Given the description of an element on the screen output the (x, y) to click on. 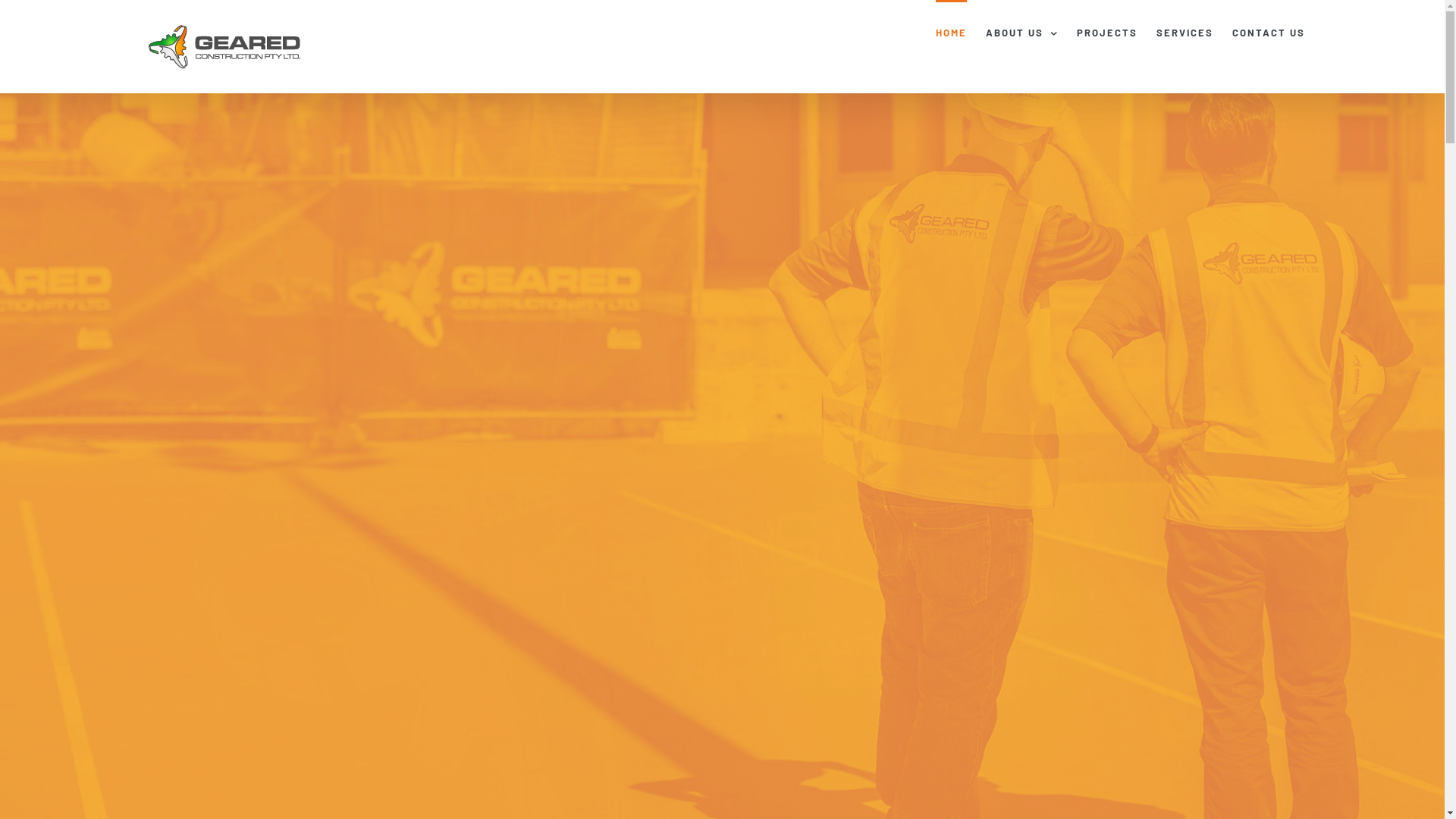
HOME Element type: text (950, 31)
PROJECTS Element type: text (1106, 31)
SERVICES Element type: text (1184, 31)
CONTACT US Element type: text (1268, 31)
ABOUT US Element type: text (1021, 31)
